Given the description of an element on the screen output the (x, y) to click on. 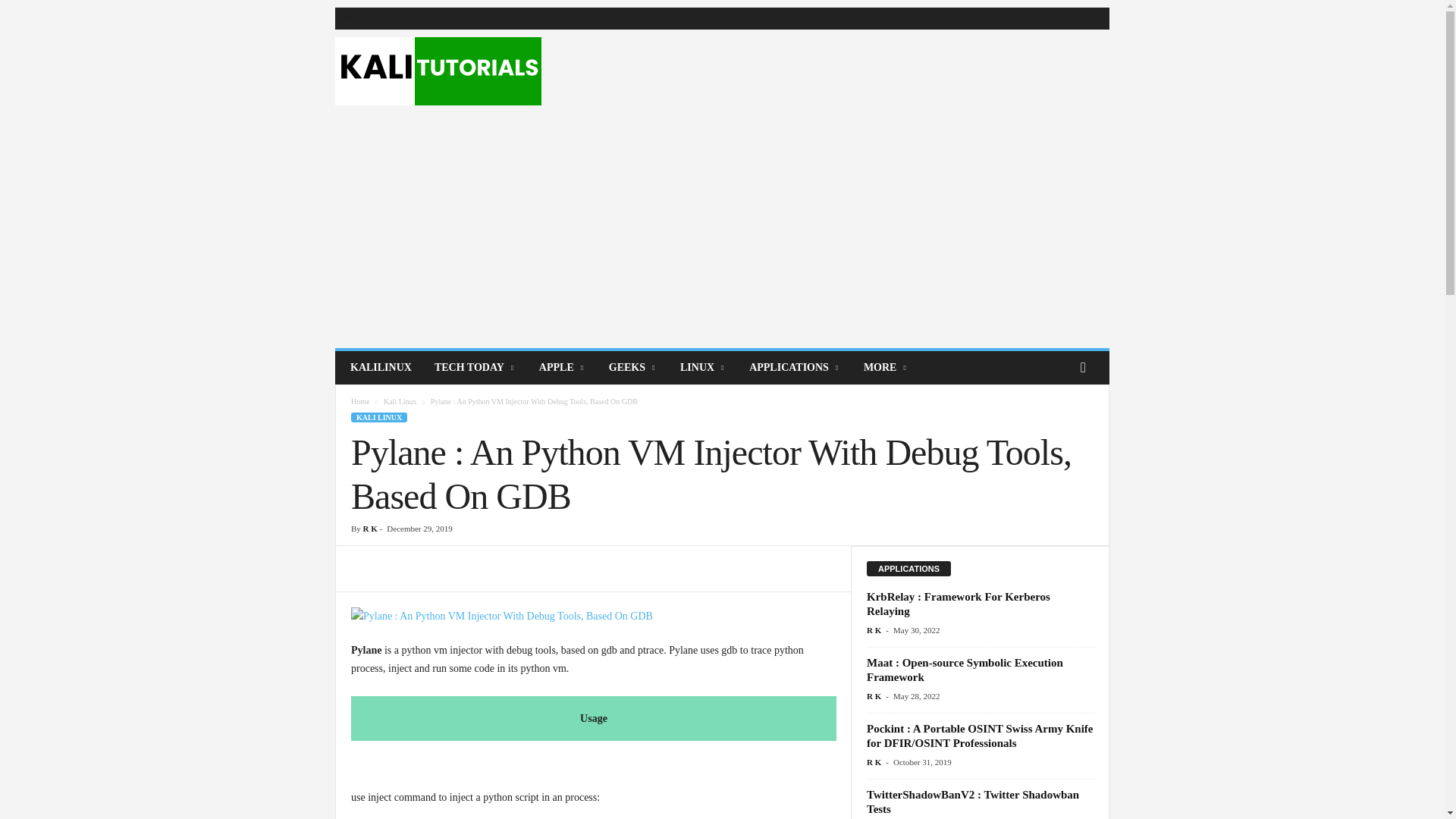
Kali Linux (437, 70)
Guides (462, 17)
TECH TODAY (475, 367)
Advertise (506, 17)
KALILINUX (381, 367)
Events (422, 17)
Buy Now (555, 17)
Kali Linux Tutorials (437, 70)
